Given the description of an element on the screen output the (x, y) to click on. 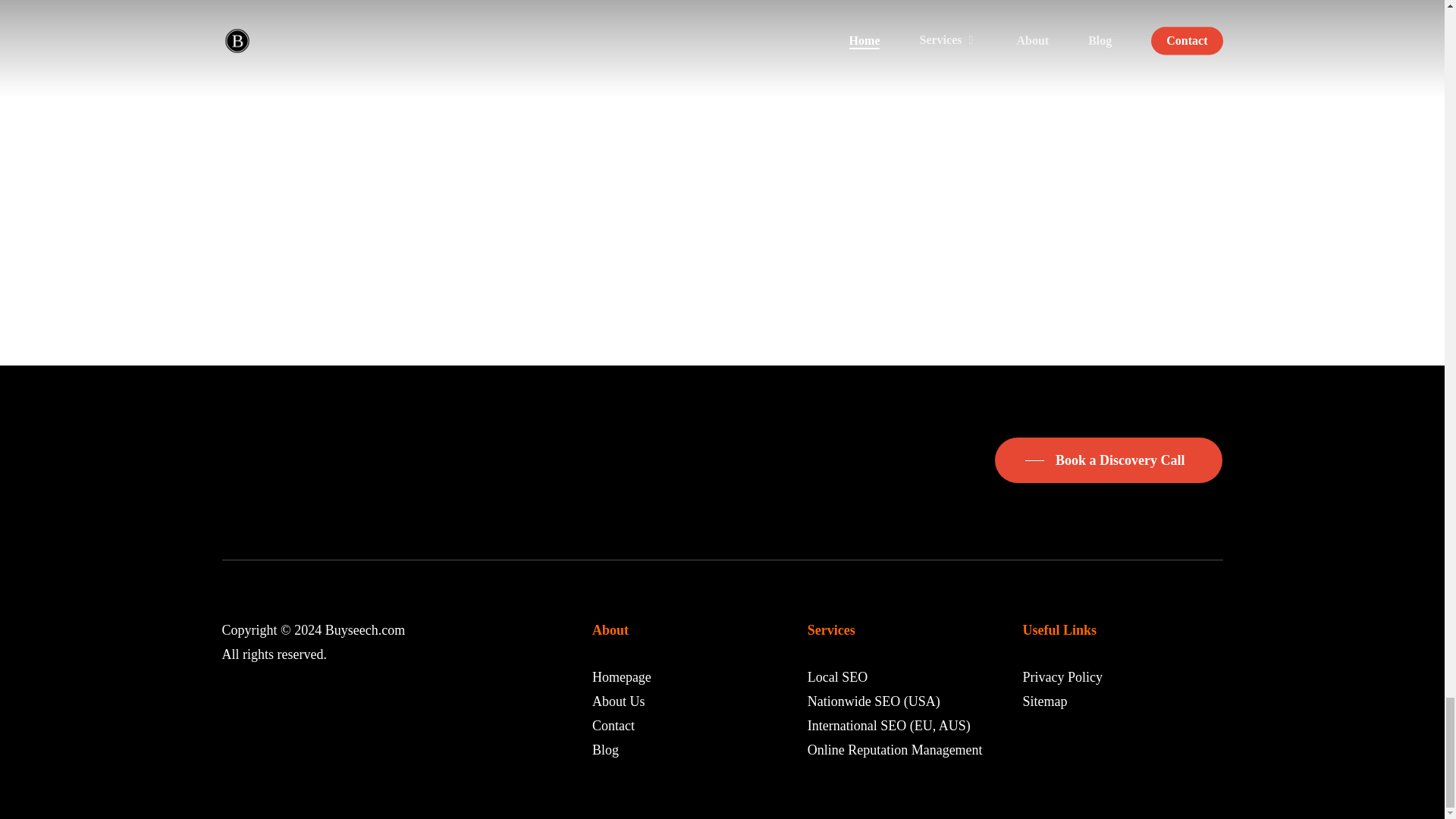
Sitemap (1044, 701)
Blog (605, 749)
Book a Discovery Call (1108, 459)
Homepage (621, 676)
About Us (618, 701)
Privacy Policy (1062, 676)
Local SEO (837, 676)
Online Reputation Management (895, 749)
Contact (613, 725)
